Given the description of an element on the screen output the (x, y) to click on. 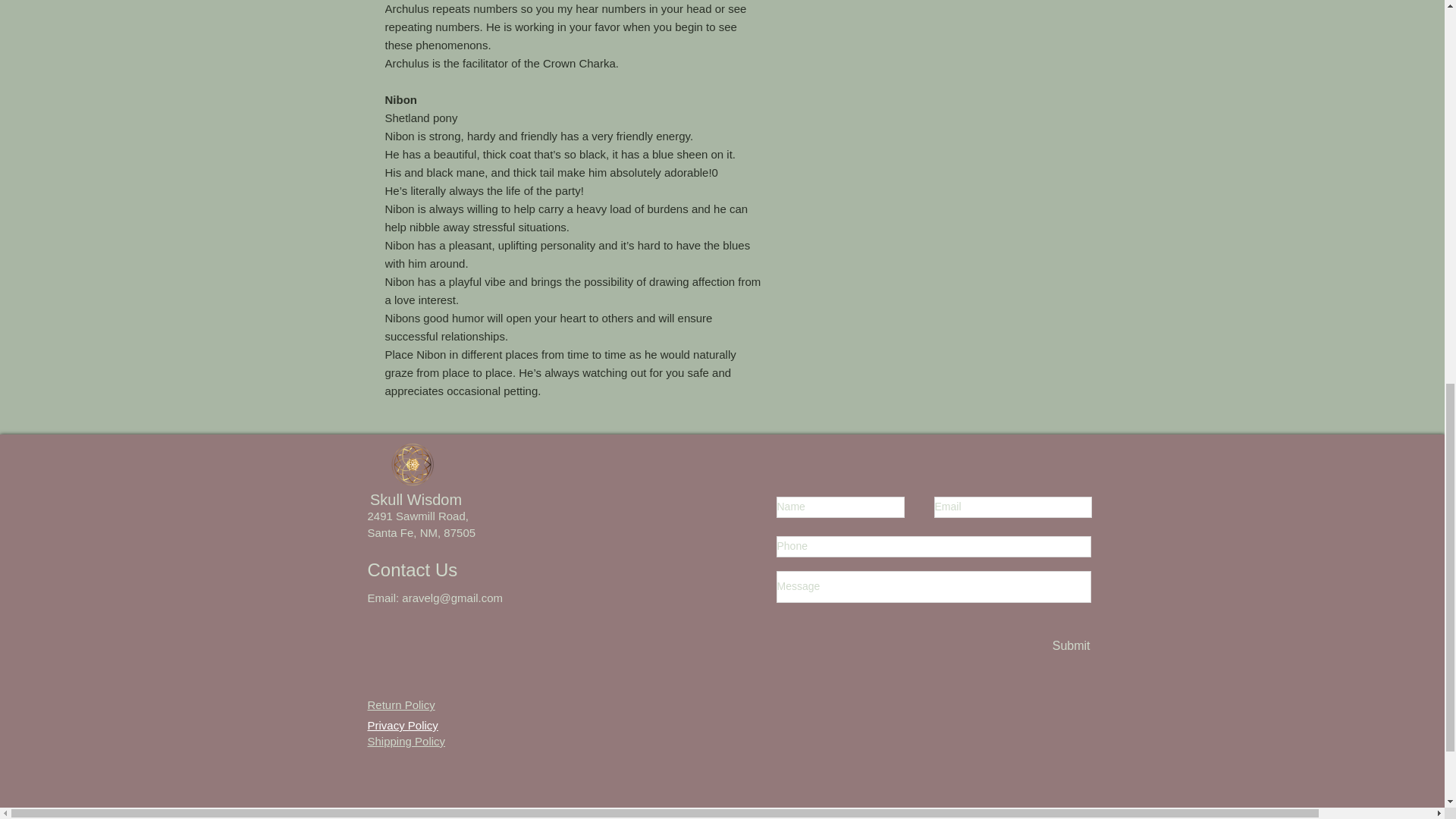
Privacy Policy (402, 718)
Submit (1069, 646)
Shipping Policy (405, 740)
Terms and Conditions (425, 816)
Return Policy (399, 704)
